Given the description of an element on the screen output the (x, y) to click on. 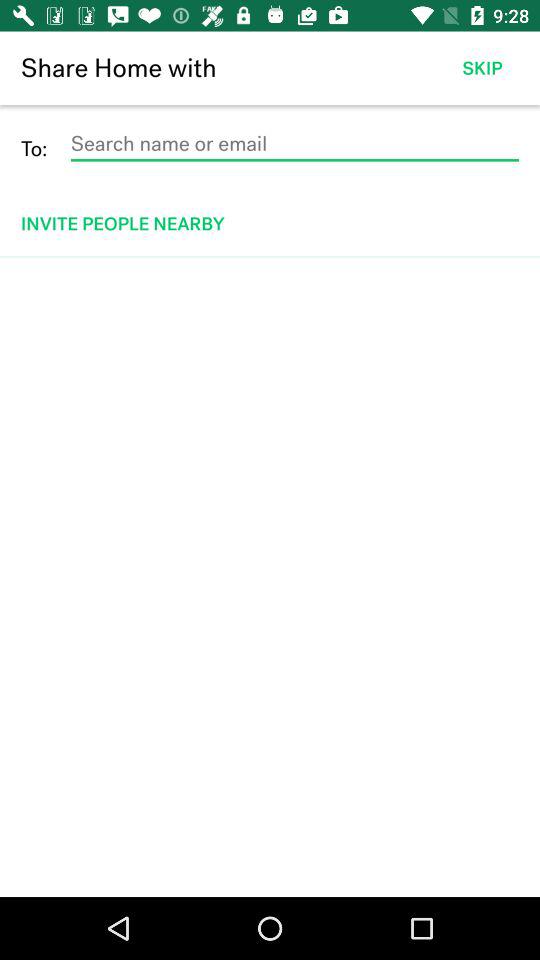
launch the item at the top right corner (482, 68)
